Given the description of an element on the screen output the (x, y) to click on. 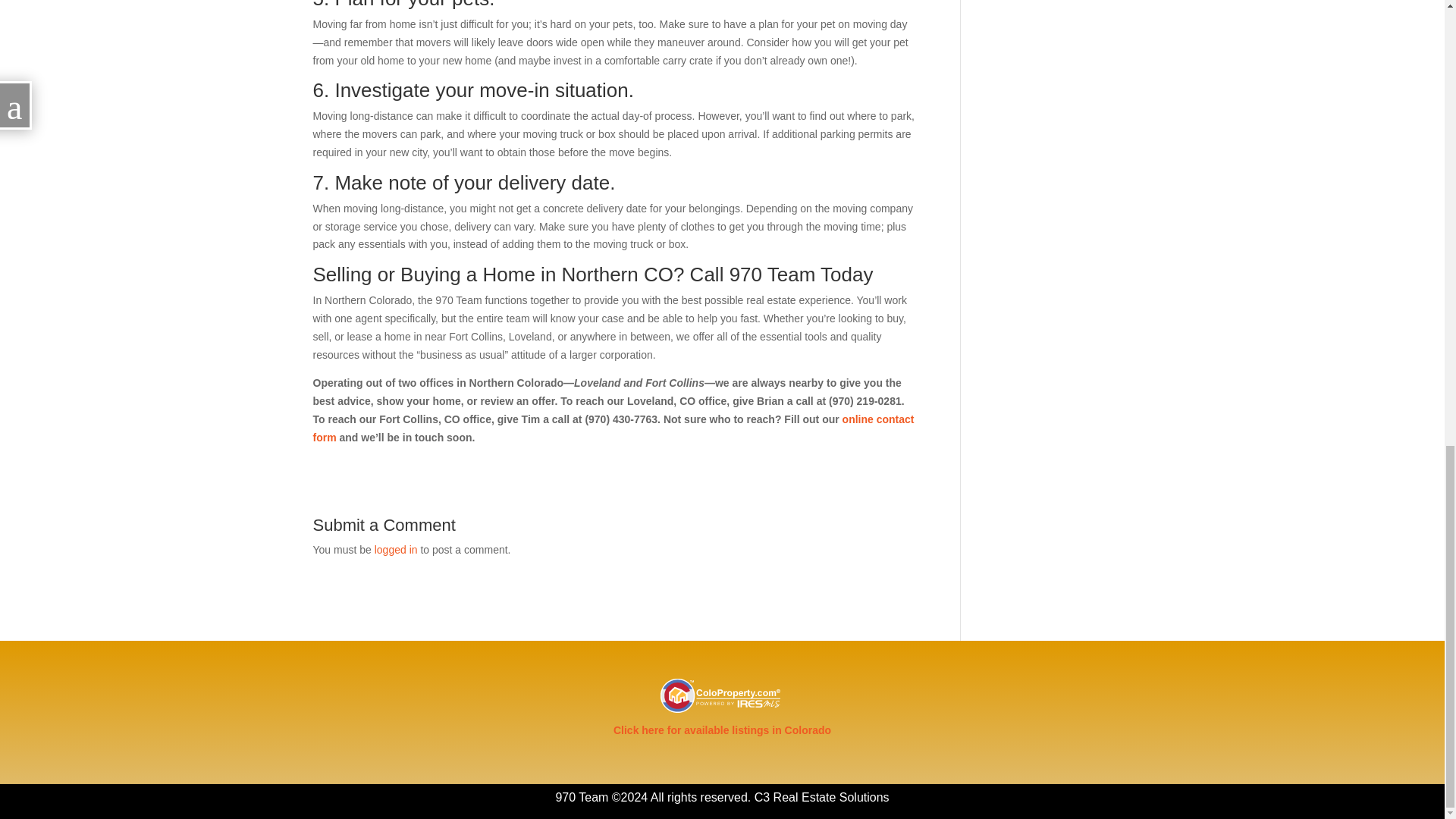
online contact form (613, 428)
coloproperty-logo (721, 695)
Click here for available listings in Colorado (721, 729)
logged in (395, 549)
C3 Real Estate Solutions (821, 797)
